Given the description of an element on the screen output the (x, y) to click on. 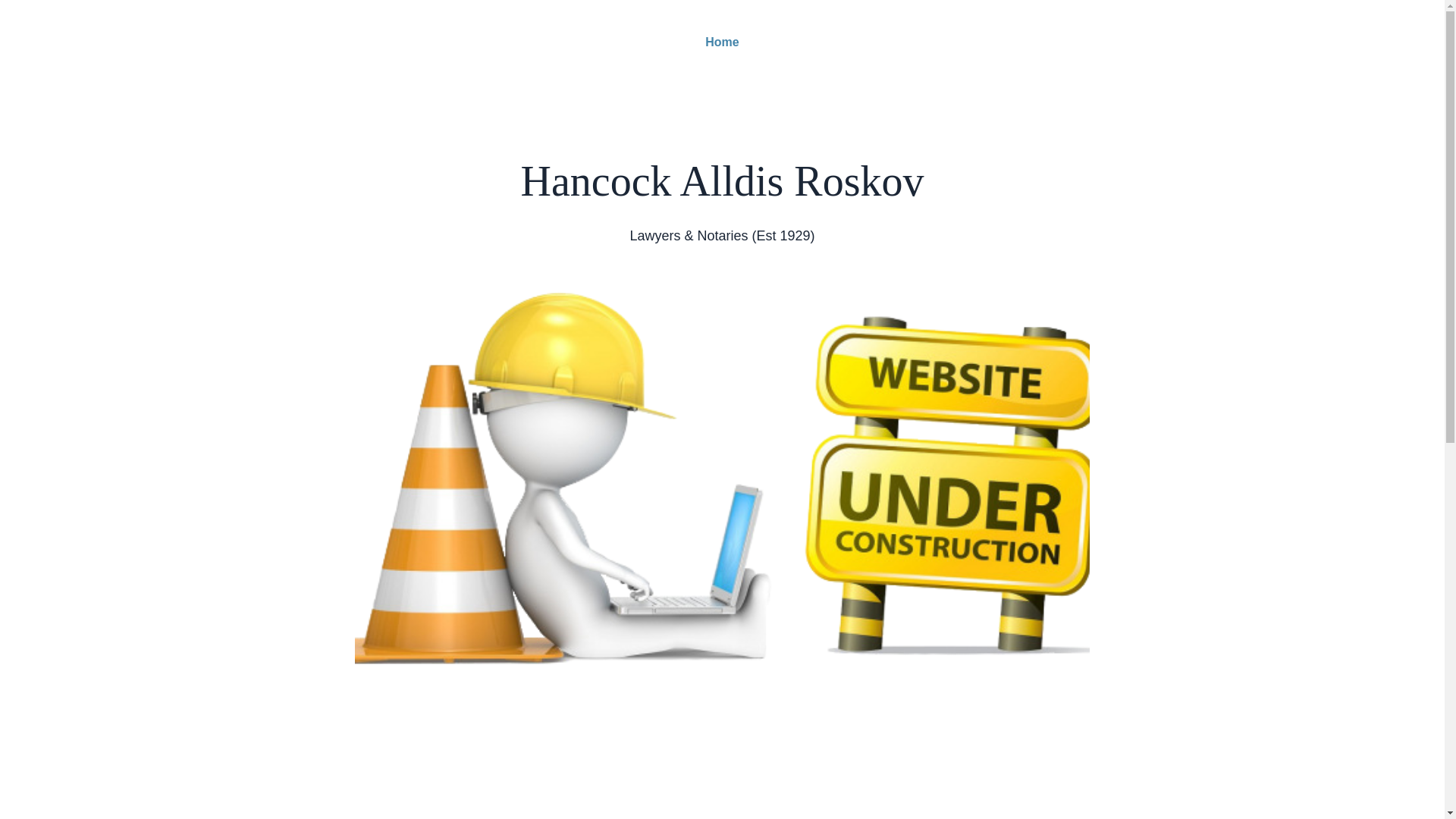
Home Element type: text (721, 42)
